Given the description of an element on the screen output the (x, y) to click on. 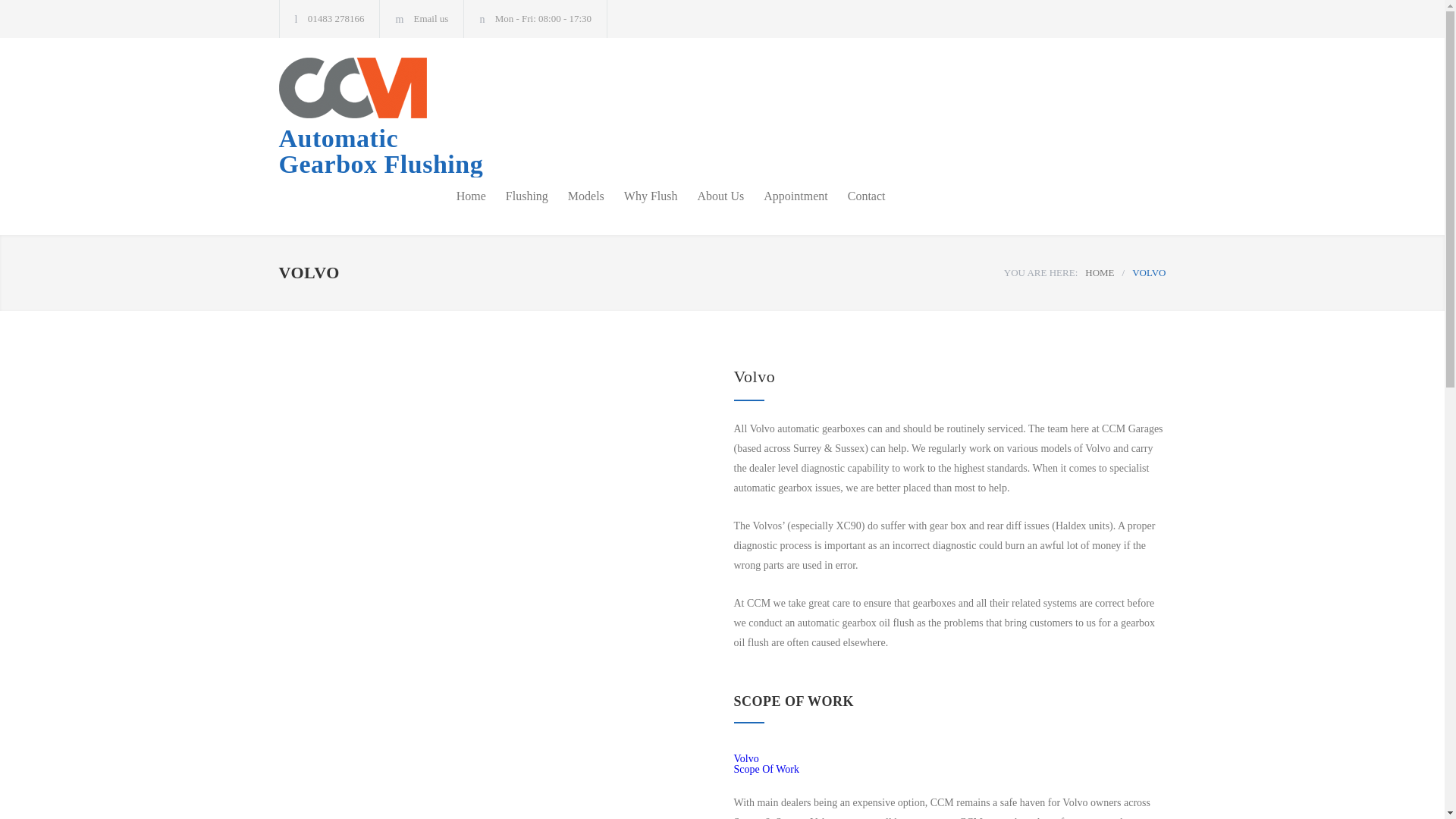
Models (576, 196)
Why Flush (641, 196)
About Us (711, 196)
Home (1098, 272)
Automatic Gearbox Flushing (419, 117)
Flushing (419, 117)
Email us (517, 196)
Appointment (430, 18)
01483 278166 (785, 196)
